Given the description of an element on the screen output the (x, y) to click on. 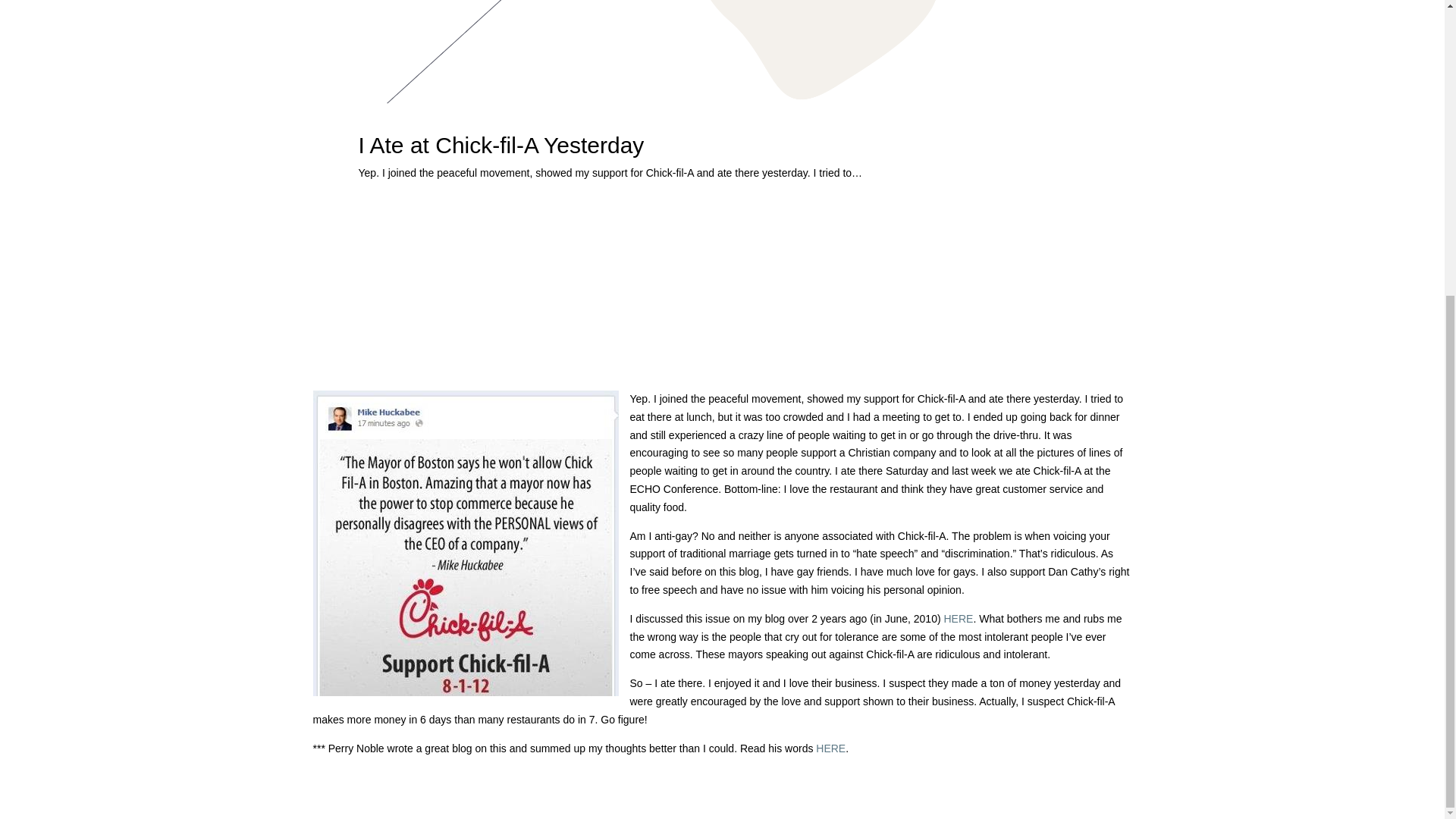
HERE (830, 748)
2 blob (722, 52)
chick-fil-a (465, 543)
HERE (957, 618)
